Given the description of an element on the screen output the (x, y) to click on. 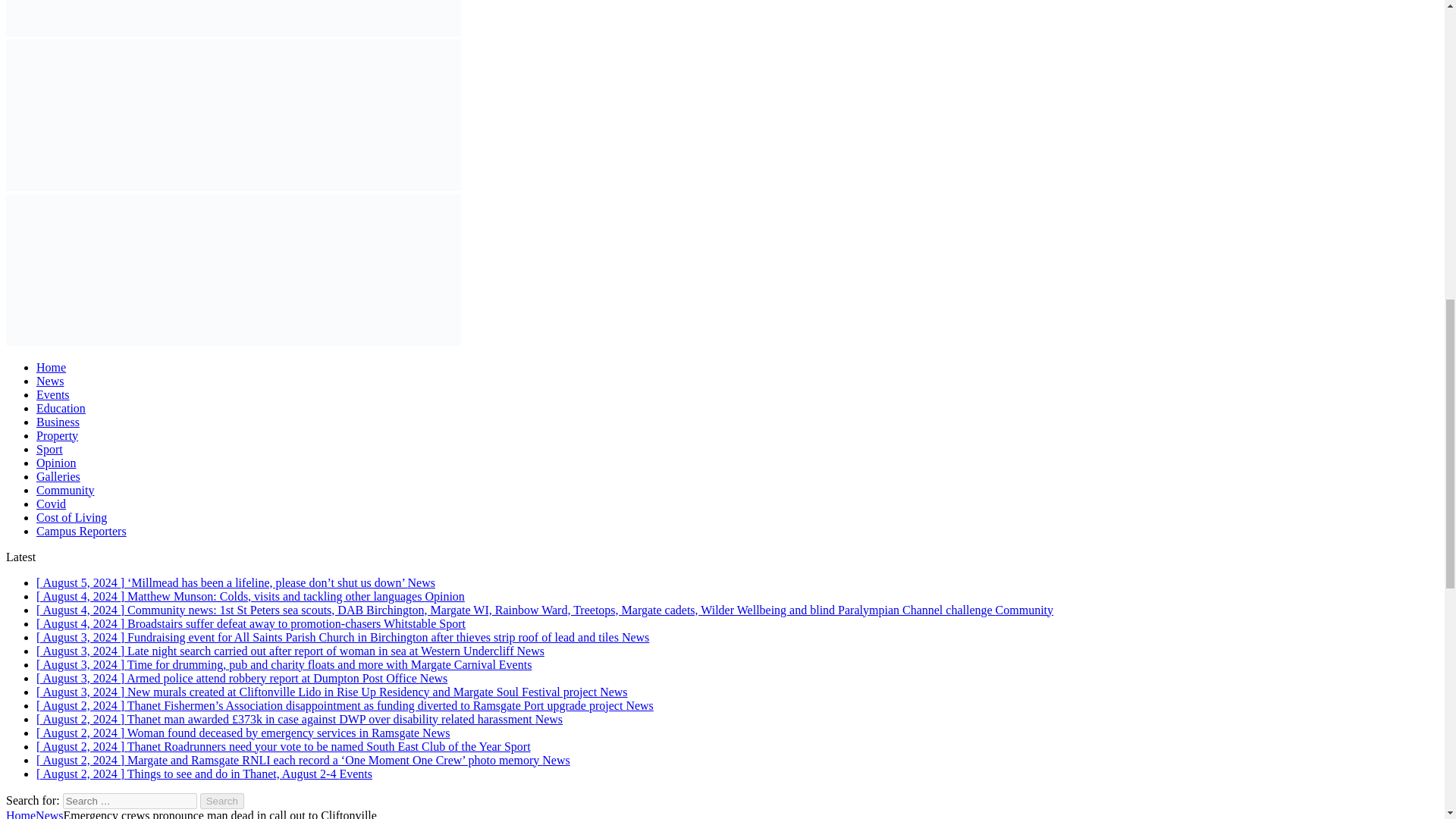
Business (58, 421)
Galleries (58, 476)
Covid (50, 503)
Opinion (55, 462)
Armed police attend robbery report at Dumpton Post Office (241, 677)
Campus Reporters (81, 530)
News (50, 380)
Matthew Munson: Colds, visits and tackling other languages (250, 595)
Woman found deceased by emergency services in Ramsgate (242, 732)
Community (65, 490)
Search (222, 801)
Education (60, 408)
Property (57, 435)
Search (222, 801)
